Given the description of an element on the screen output the (x, y) to click on. 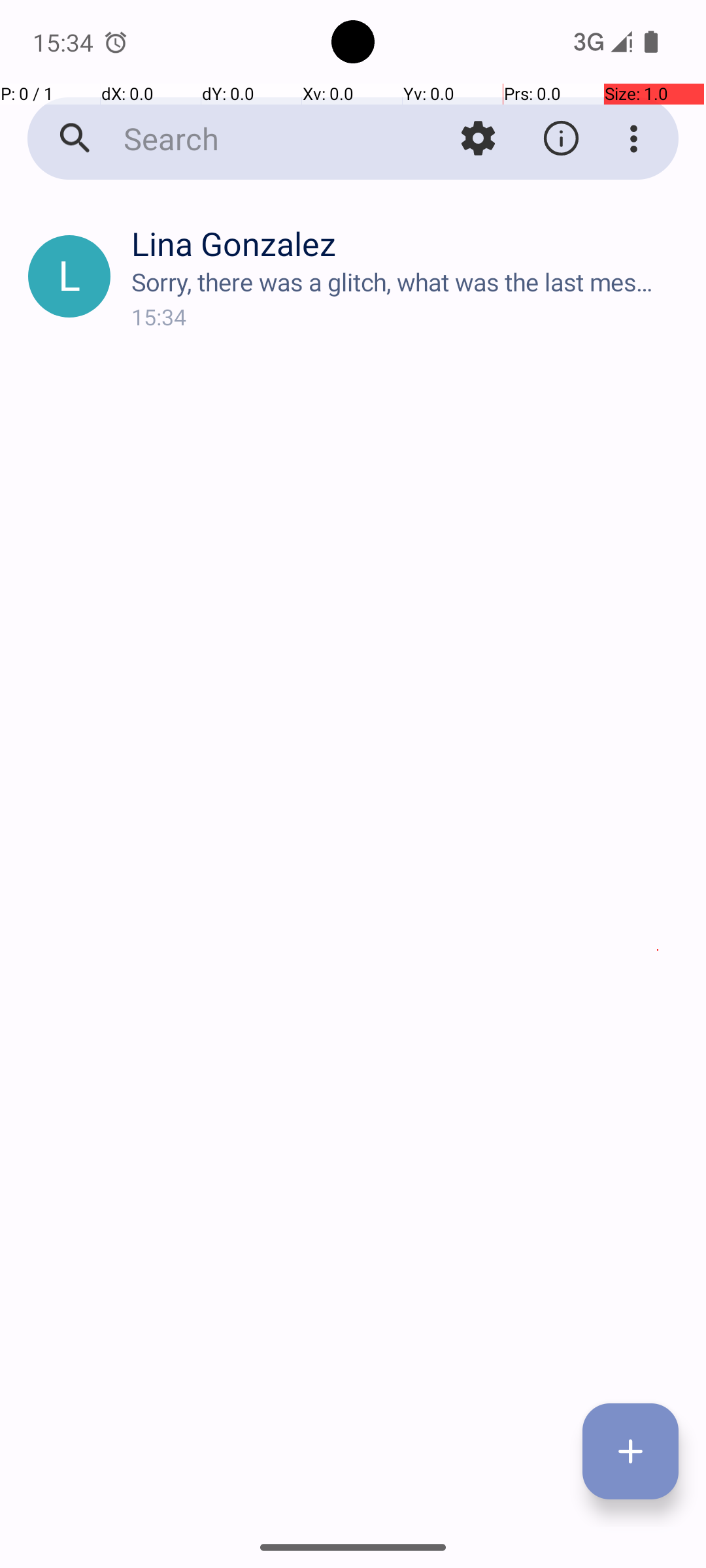
Lina Gonzalez Element type: android.widget.TextView (408, 242)
